Given the description of an element on the screen output the (x, y) to click on. 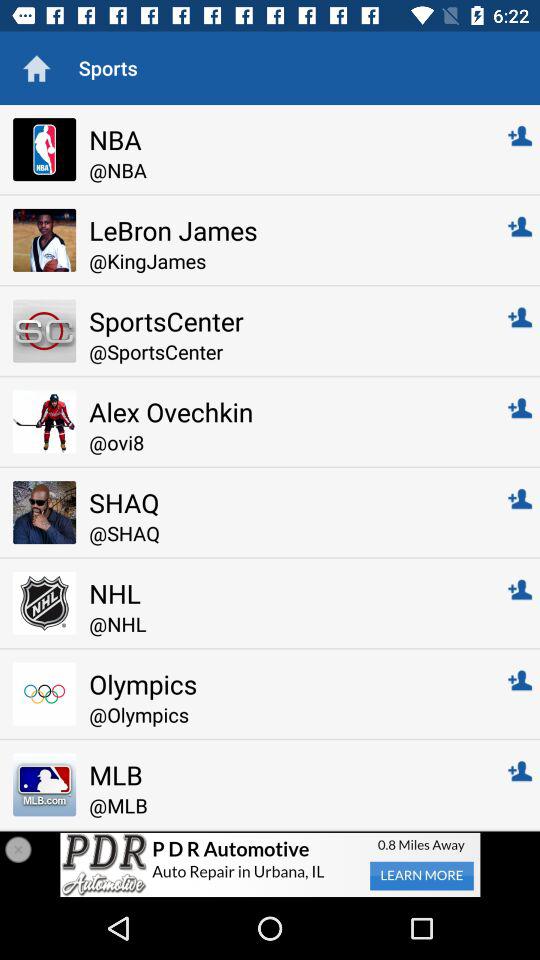
click the icon below alex ovechkin (284, 442)
